Given the description of an element on the screen output the (x, y) to click on. 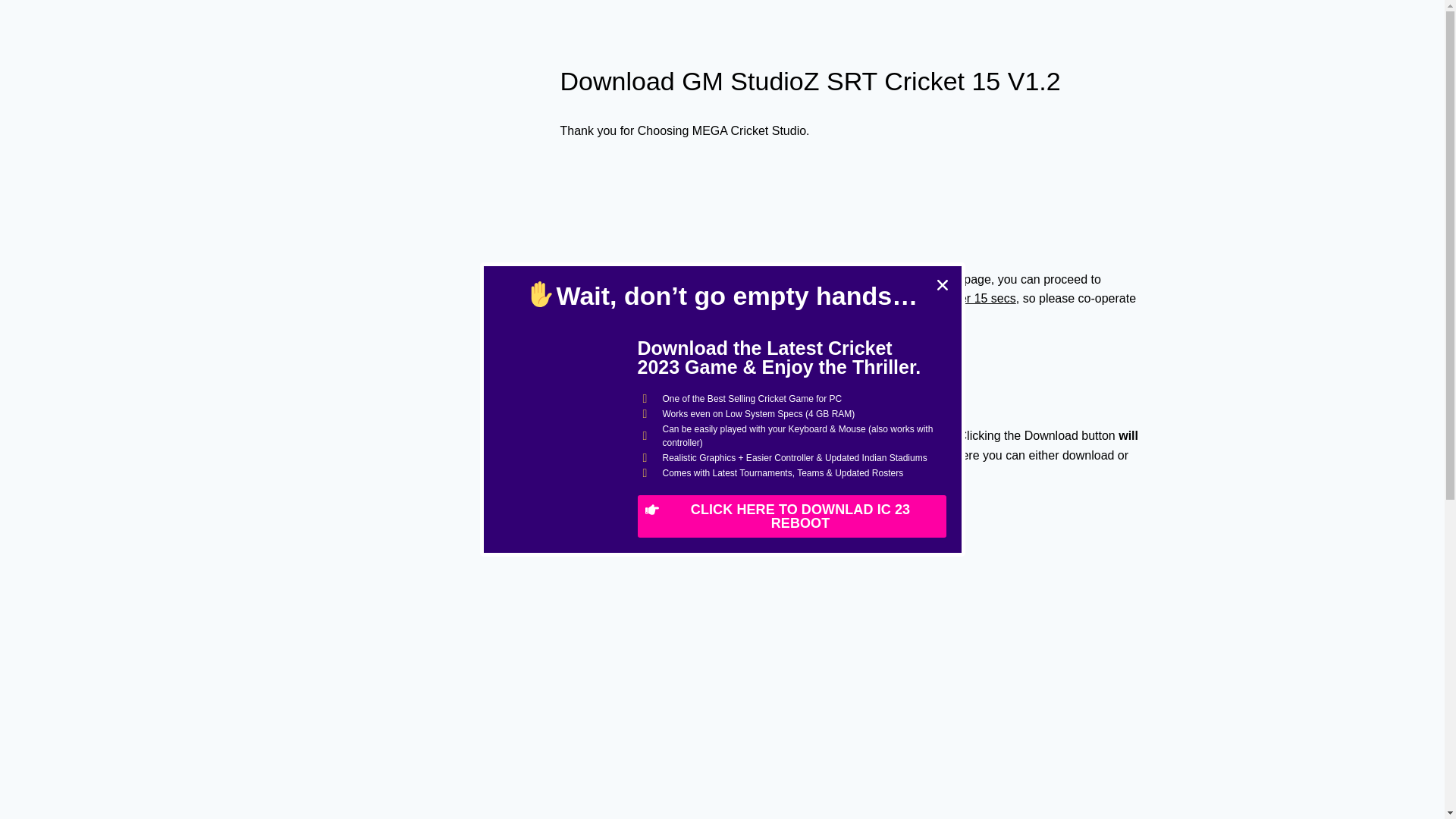
Advertisement (848, 795)
Advertisement (424, 162)
Advertisement (418, 500)
CLICK HERE TO DOWNLAD IC 23 REBOOT (790, 516)
Advertisement (835, 202)
Advertisement (848, 583)
